Given the description of an element on the screen output the (x, y) to click on. 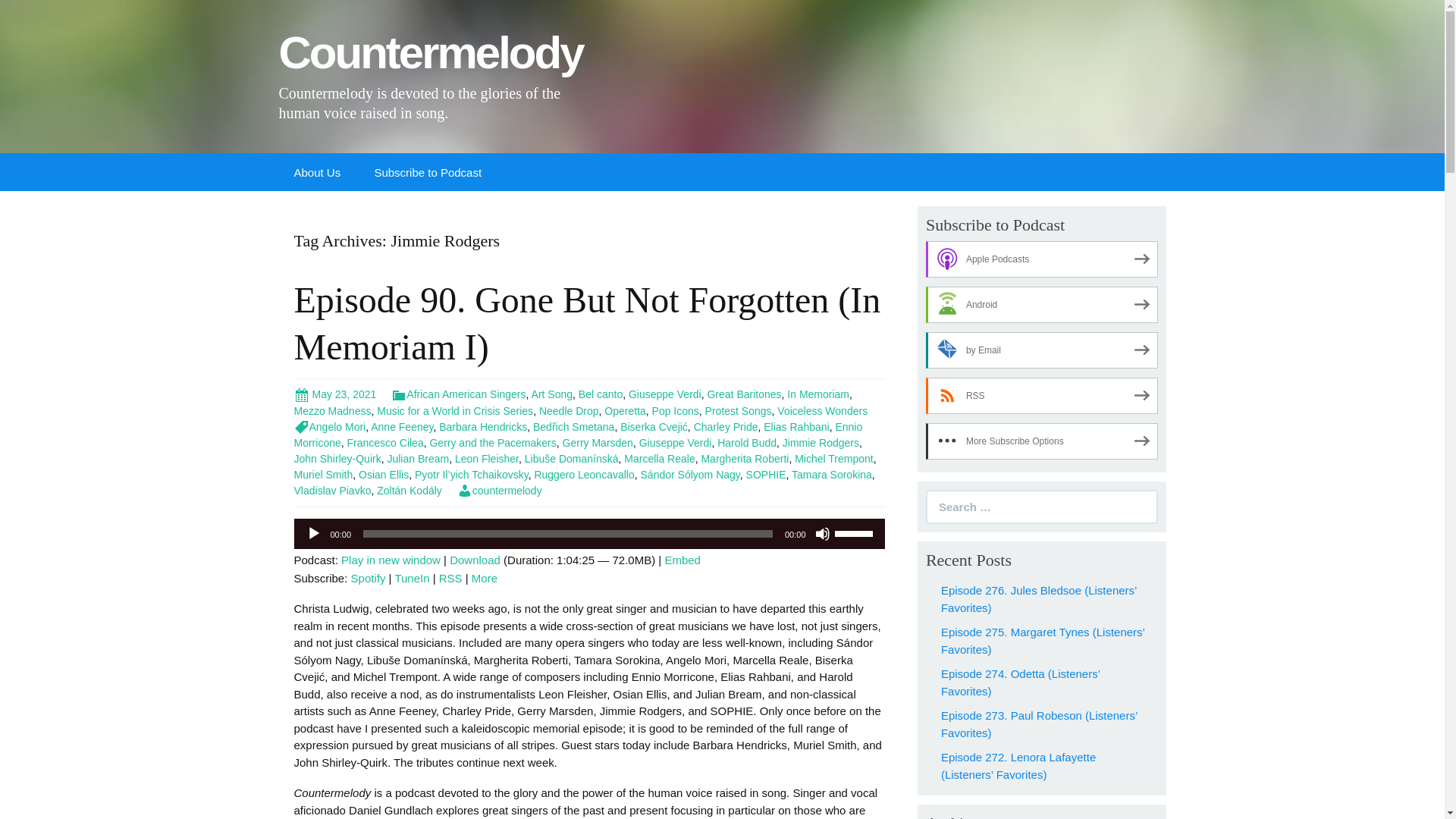
Francesco Cilea (385, 442)
About Us (317, 171)
Bel canto (600, 394)
Pop Icons (675, 410)
Anne Feeney (401, 426)
Protest Songs (737, 410)
Needle Drop (568, 410)
Subscribe via RSS (1041, 395)
Subscribe on Android (1041, 304)
John Shirley-Quirk (337, 458)
Julian Bream (417, 458)
Download (474, 559)
Leon Fleisher (486, 458)
Subscribe to Podcast (427, 171)
